Given the description of an element on the screen output the (x, y) to click on. 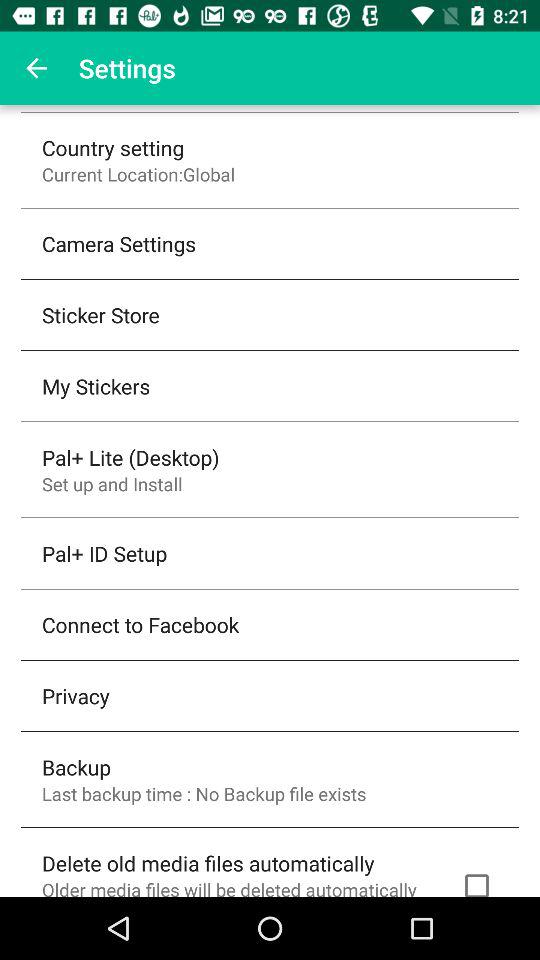
choose icon to the right of the older media files (476, 880)
